Given the description of an element on the screen output the (x, y) to click on. 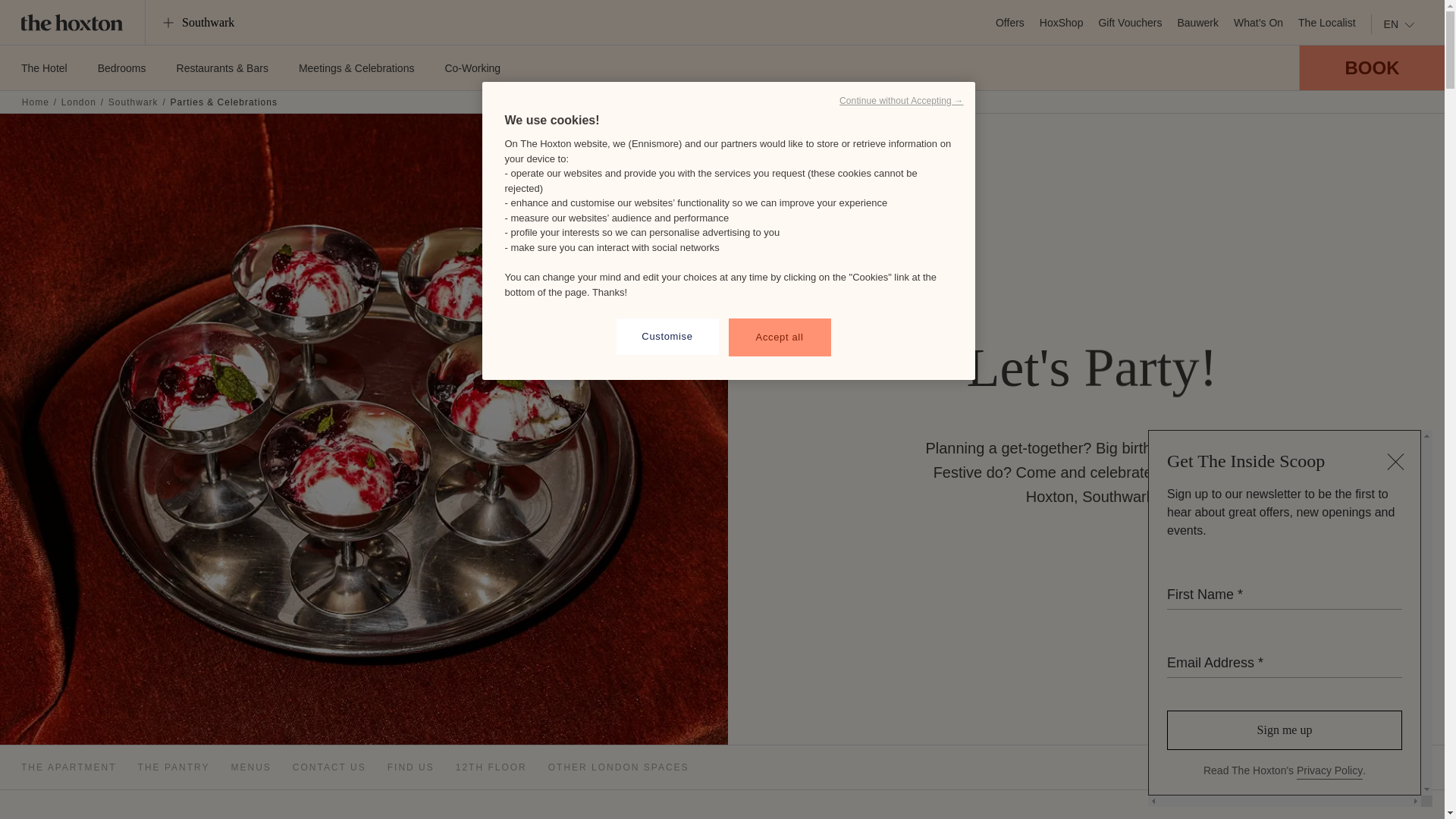
MENUS (250, 767)
OTHER LONDON SPACES (618, 767)
THE PANTRY (173, 767)
THE APARTMENT (68, 767)
CONTACT US (329, 767)
FIND US (410, 767)
12TH FLOOR (491, 767)
